Given the description of an element on the screen output the (x, y) to click on. 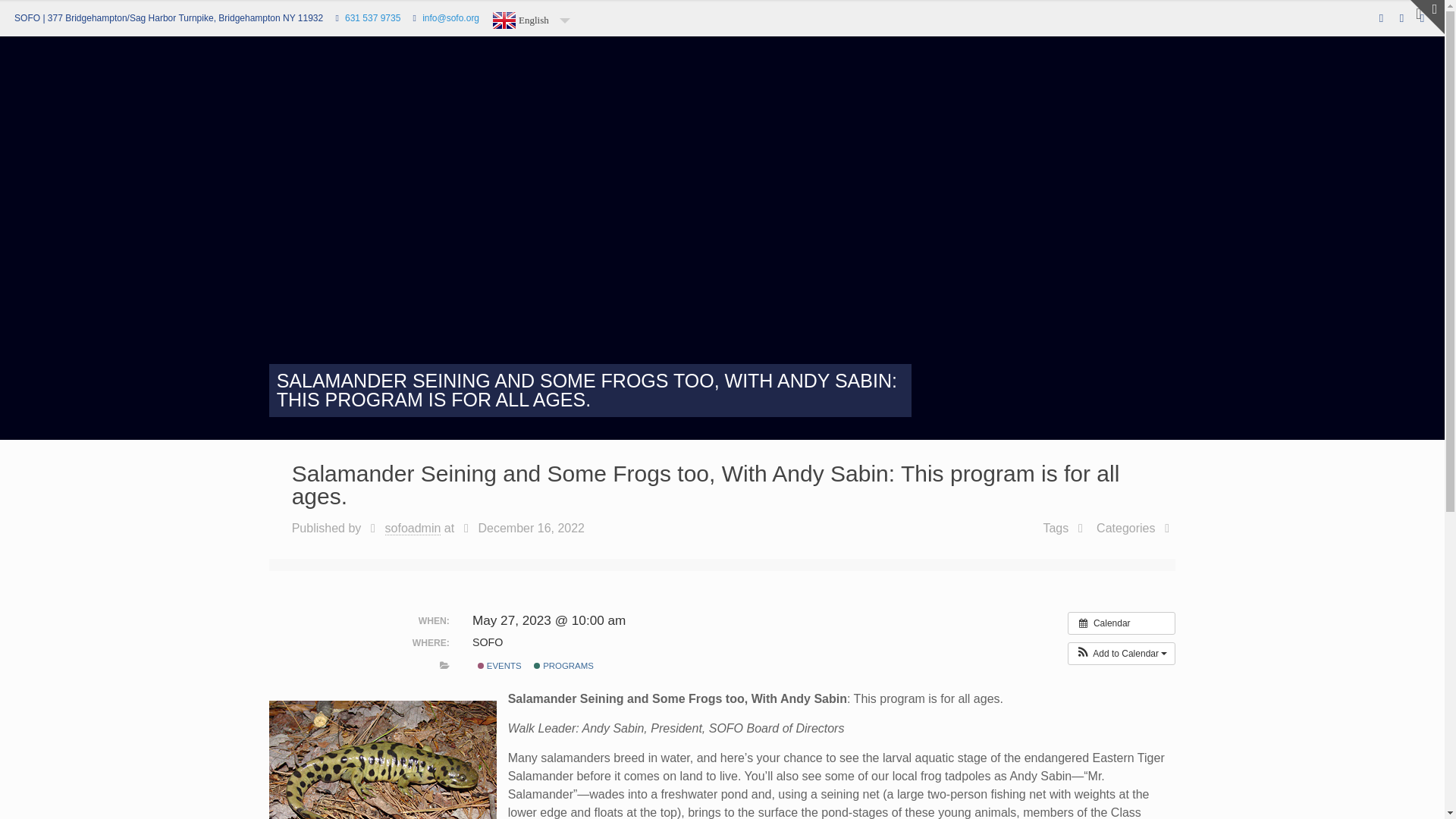
631 537 9735 (372, 18)
View all events (1121, 621)
Instagram (1421, 17)
Facebook (1381, 17)
Twitter (1401, 17)
